Given the description of an element on the screen output the (x, y) to click on. 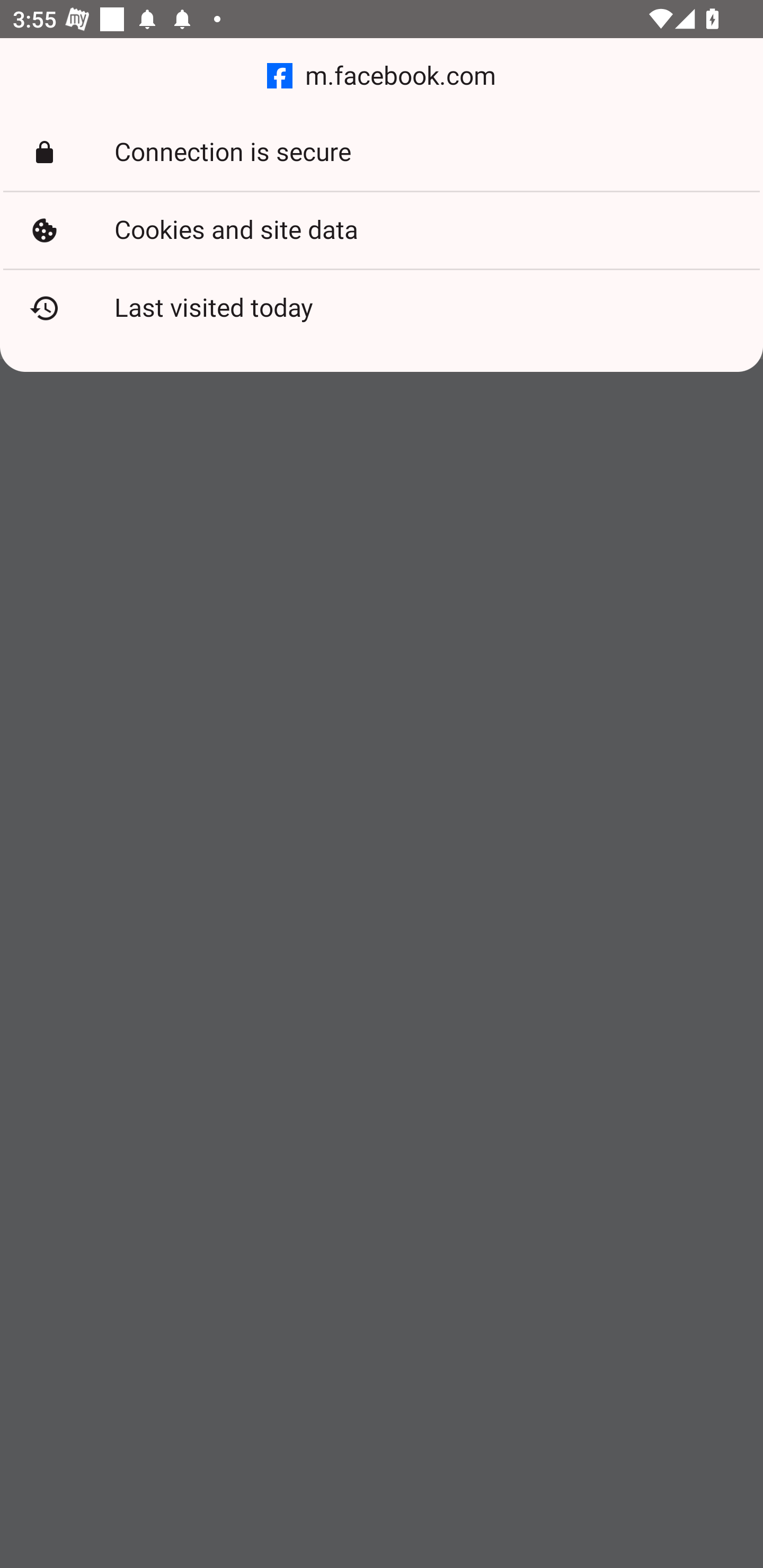
m.facebook.com (381, 75)
Connection is secure (381, 152)
Cookies and site data (381, 230)
Last visited today (381, 307)
